Given the description of an element on the screen output the (x, y) to click on. 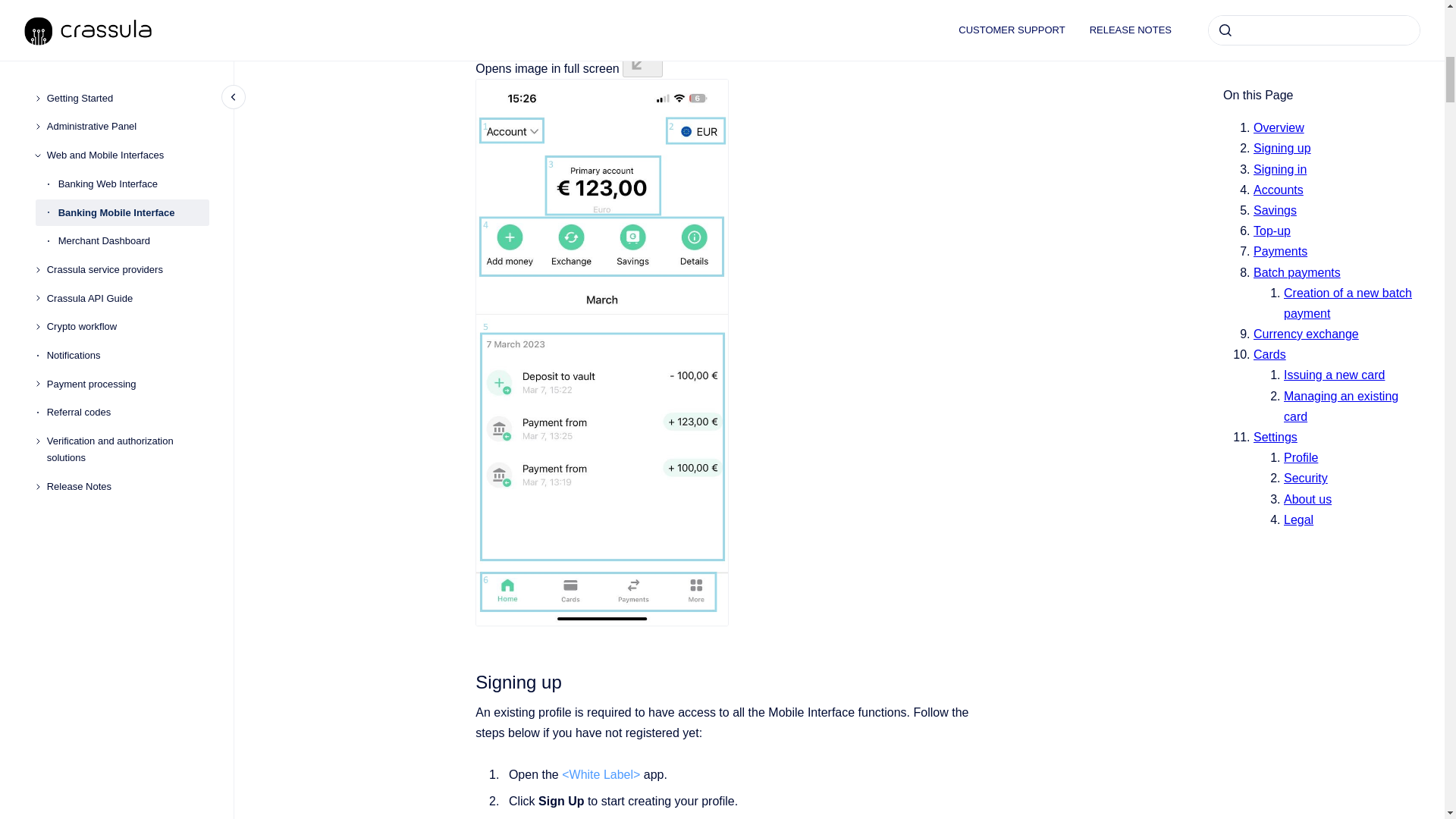
Copy to clipboard (468, 680)
